Given the description of an element on the screen output the (x, y) to click on. 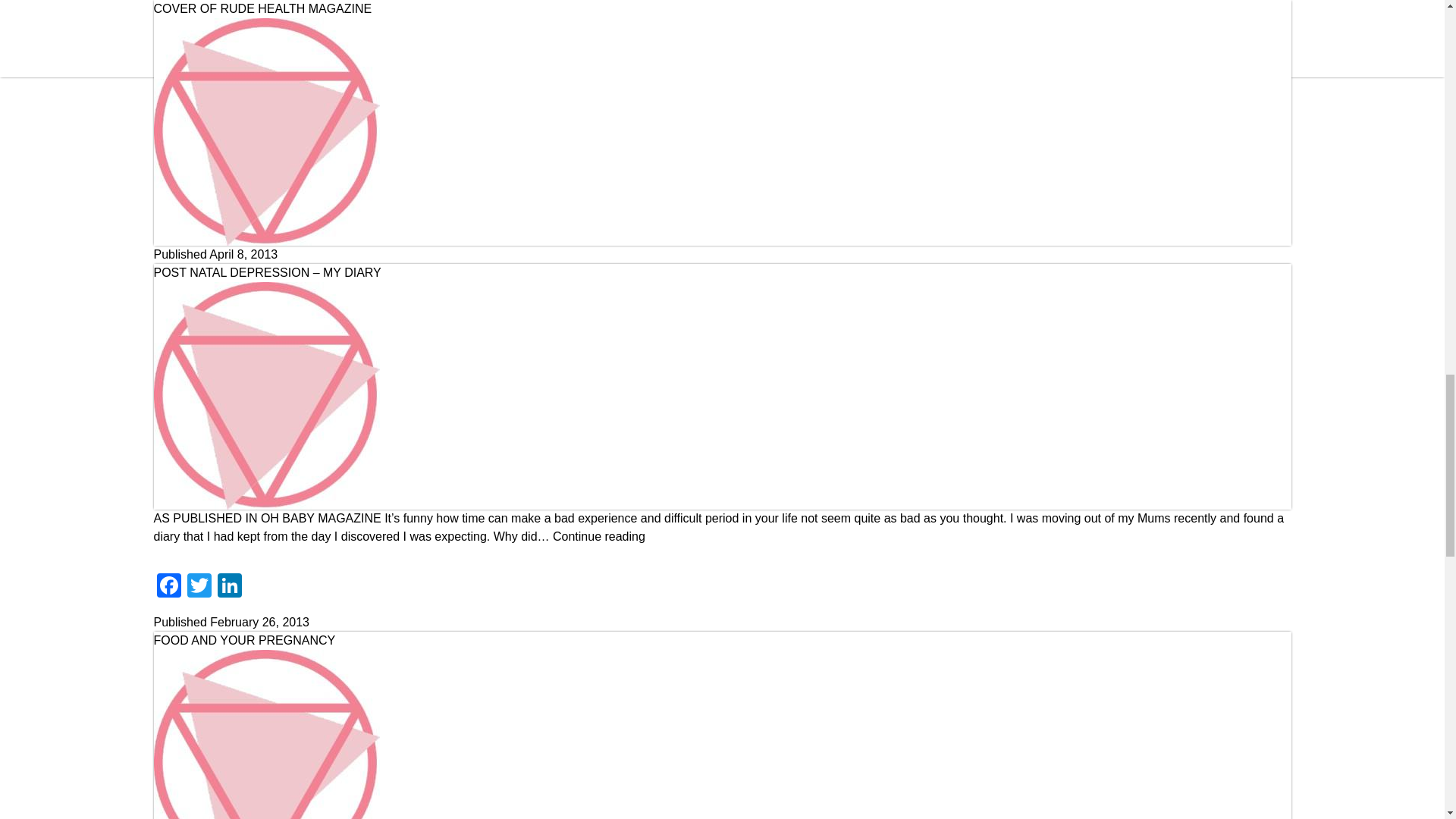
Twitter (198, 219)
LinkedIn (229, 219)
Facebook (167, 219)
